Given the description of an element on the screen output the (x, y) to click on. 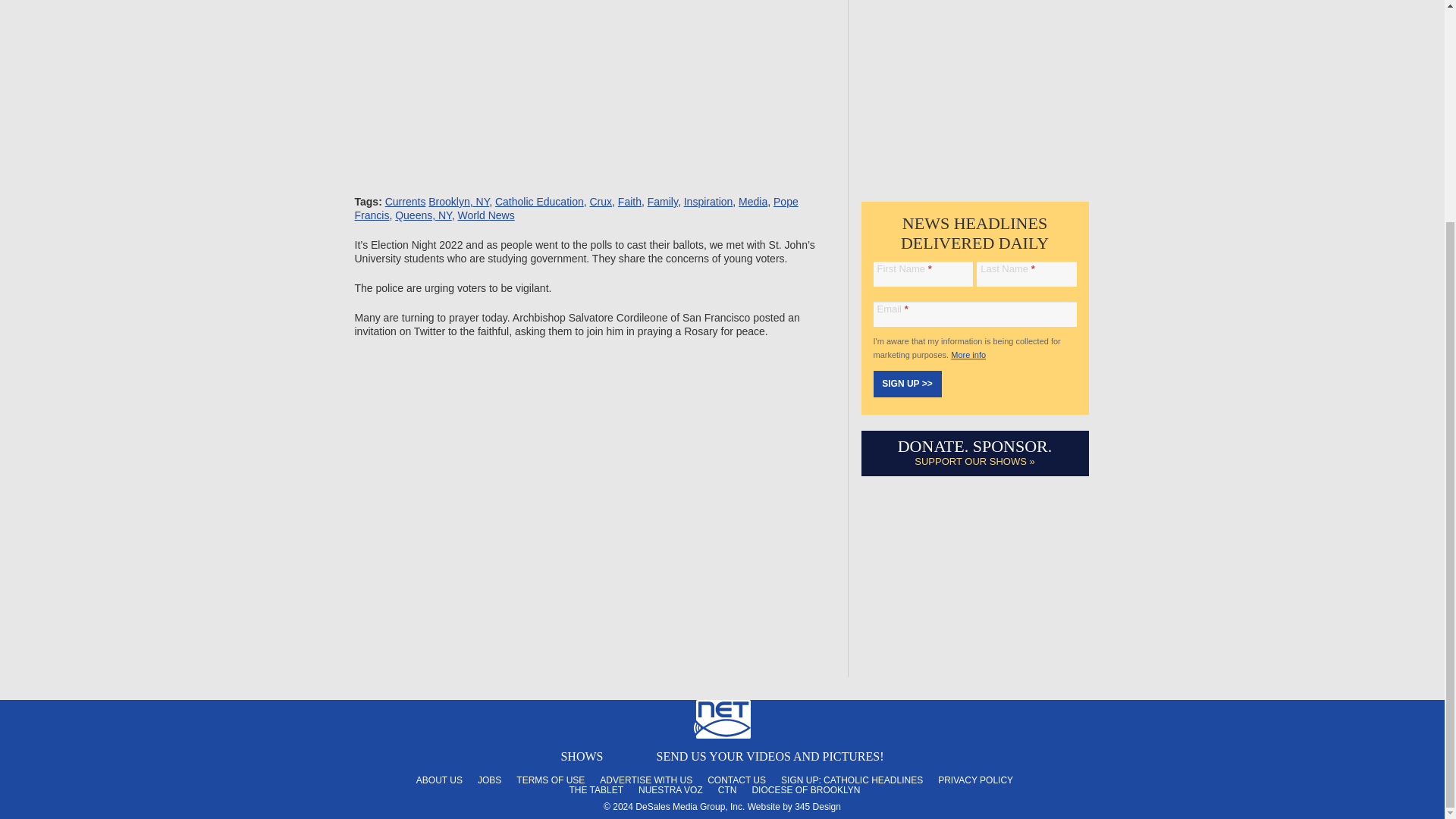
SHOWS (581, 756)
DONATE. SPONSOR. (975, 445)
More info (967, 354)
Brooklyn, NY (458, 201)
Queens, NY (422, 215)
Catholic Education (539, 201)
Media (752, 201)
World News (485, 215)
Faith (629, 201)
Currents (405, 201)
